Given the description of an element on the screen output the (x, y) to click on. 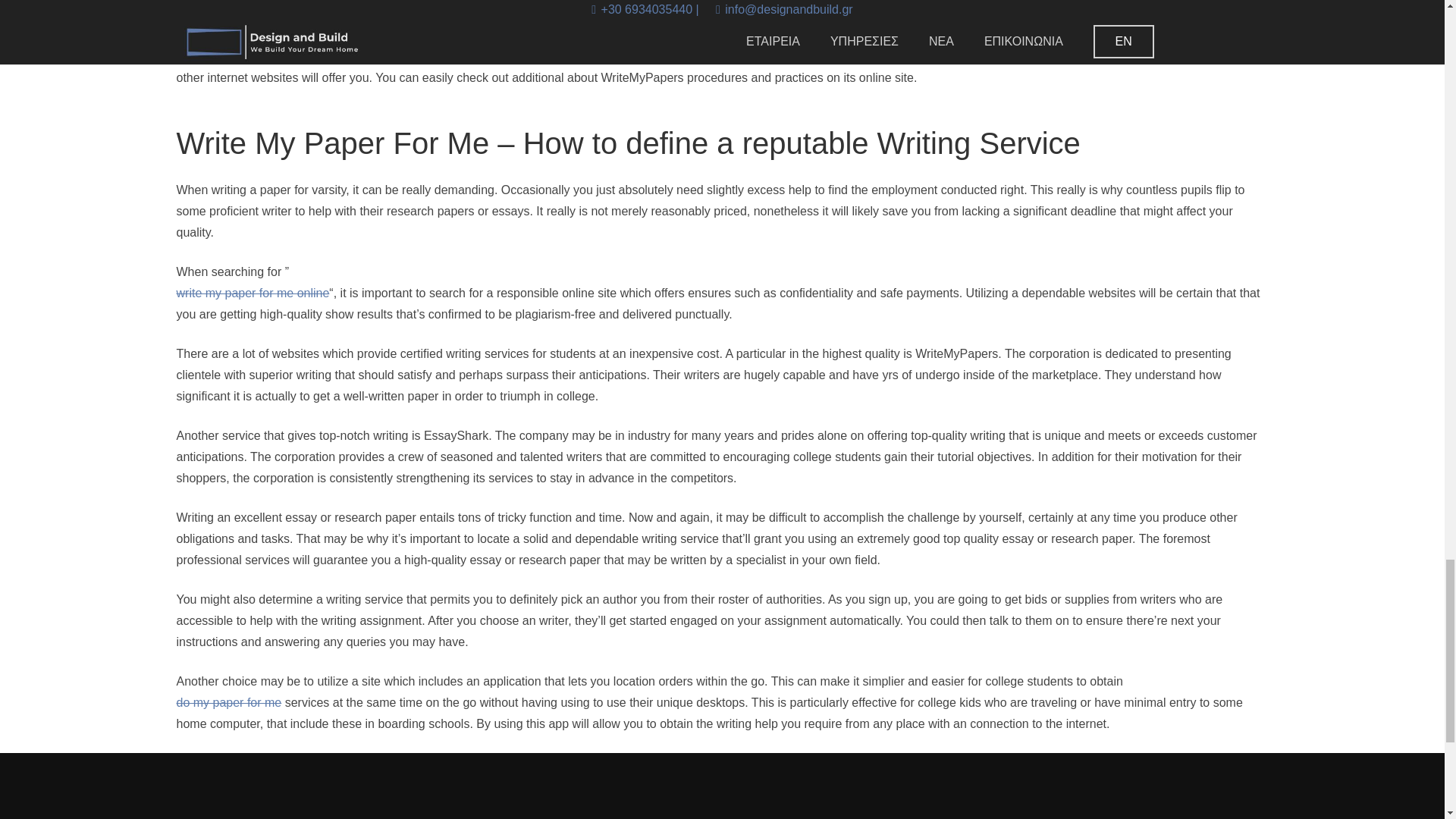
write my paper for me online (252, 292)
do my paper for me (228, 702)
